Given the description of an element on the screen output the (x, y) to click on. 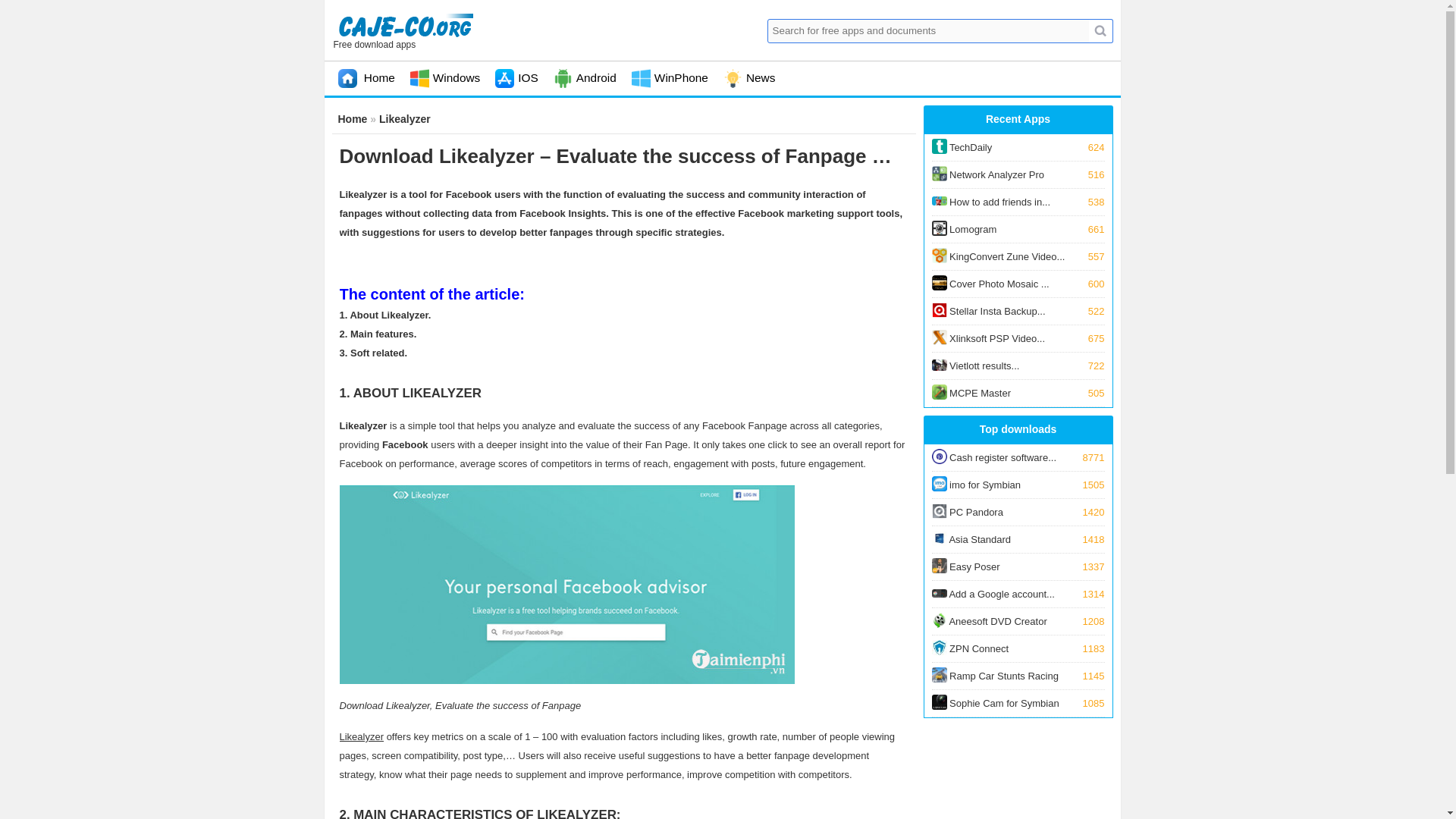
home (1017, 202)
Likealyzer (366, 77)
Windows (404, 119)
IOS (1017, 338)
News (445, 77)
